Given the description of an element on the screen output the (x, y) to click on. 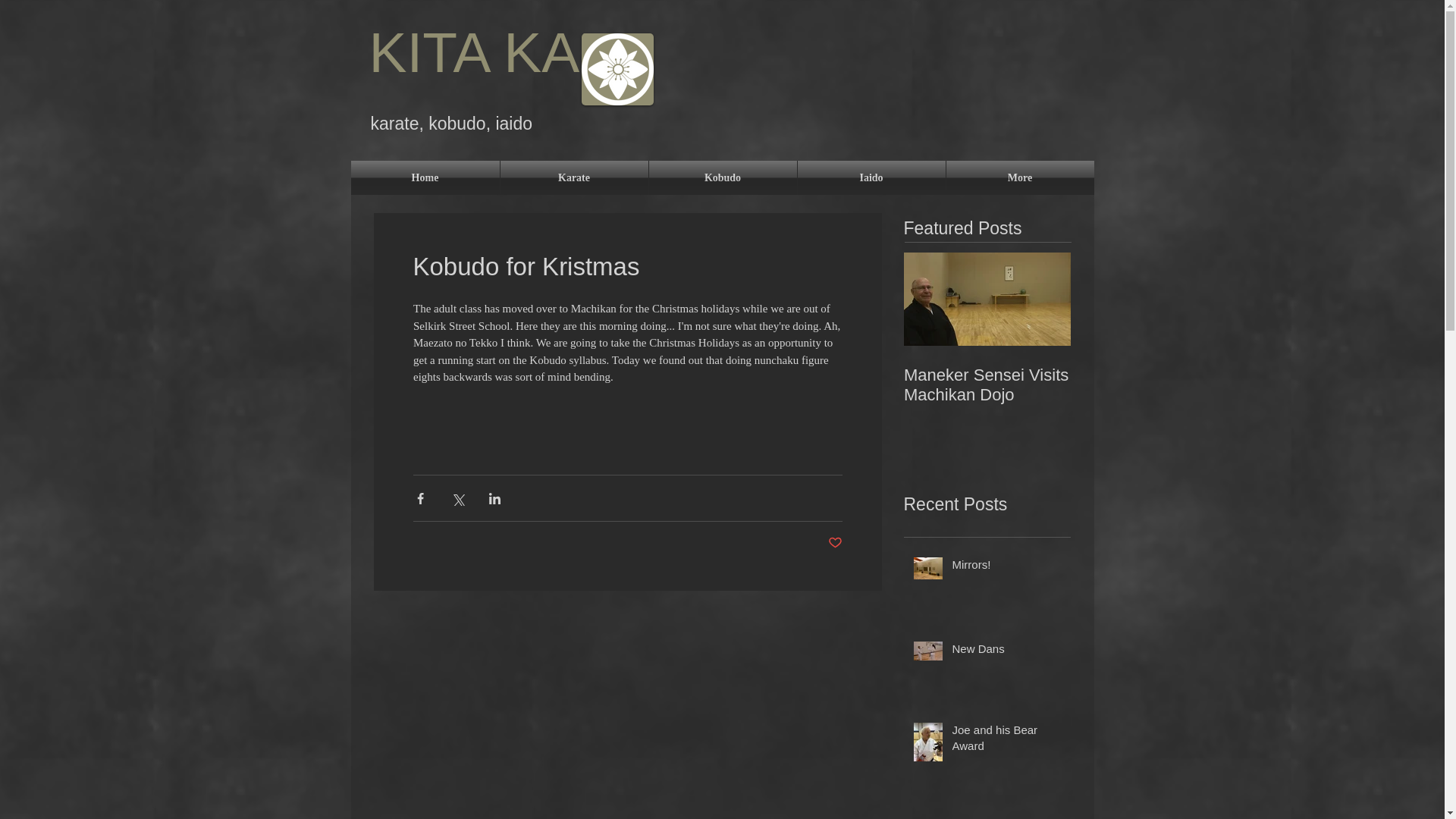
Maneker Sensei Visits Machikan Dojo (987, 384)
KITA KAZE  (518, 52)
Joe and his Bear Award (1006, 740)
Karate (573, 177)
Home (424, 177)
Kobudo (722, 177)
Post not marked as liked (835, 543)
Iaido (870, 177)
New Dans (1006, 651)
Mirrors! (1006, 567)
